Given the description of an element on the screen output the (x, y) to click on. 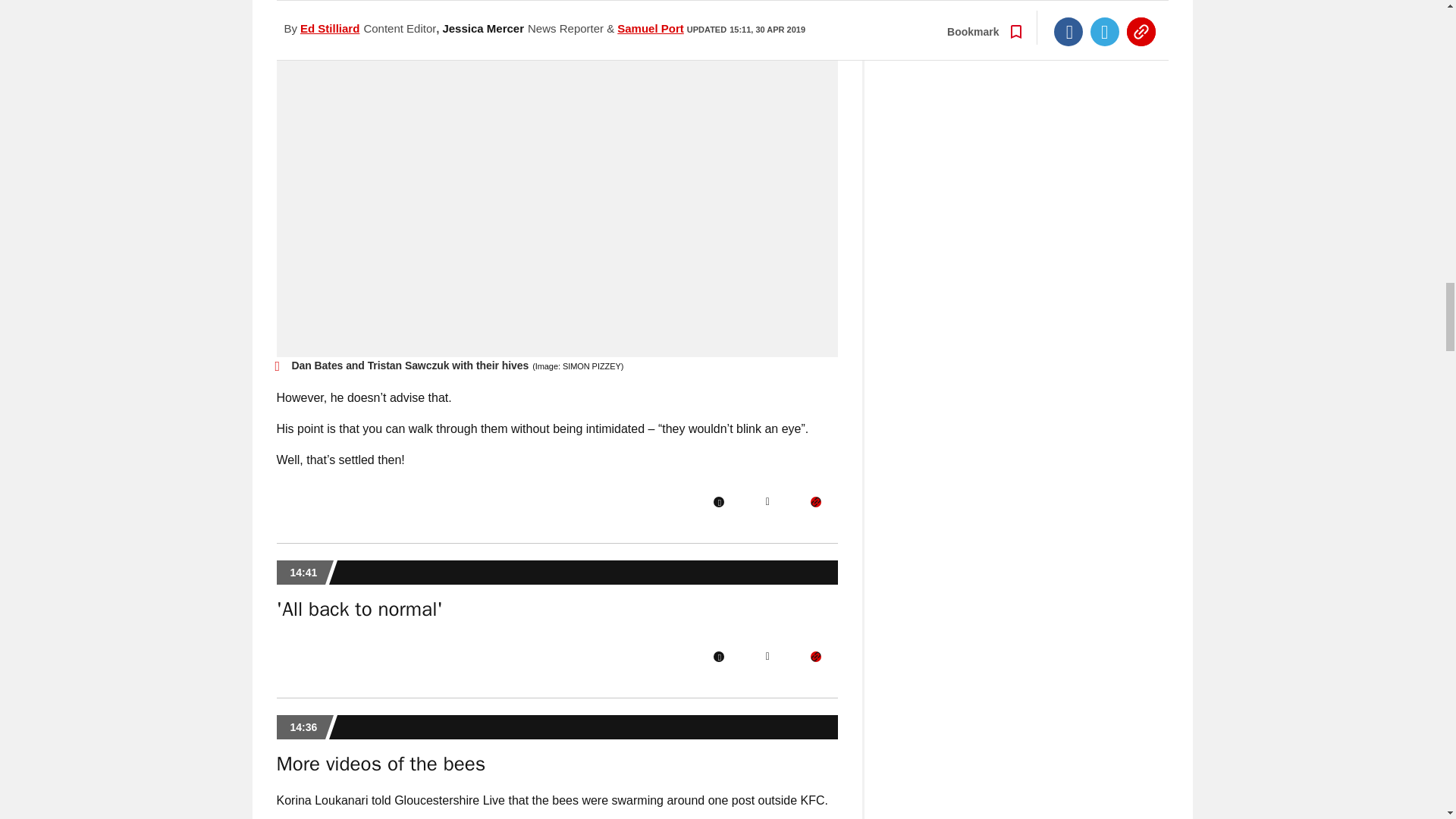
Facebook (718, 501)
Twitter (767, 656)
Facebook (718, 656)
Twitter (767, 501)
